Given the description of an element on the screen output the (x, y) to click on. 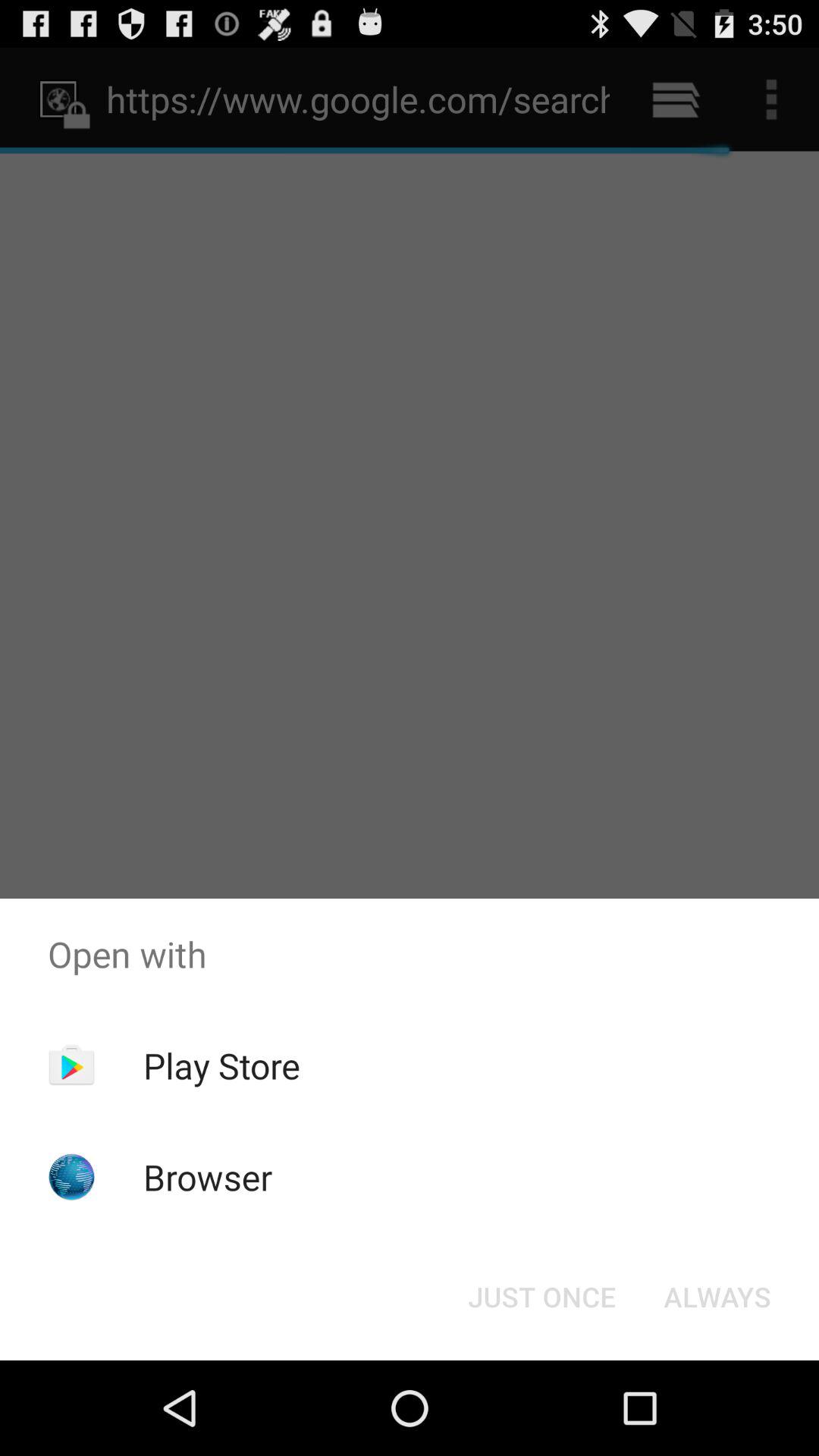
press the button next to the just once item (717, 1296)
